Given the description of an element on the screen output the (x, y) to click on. 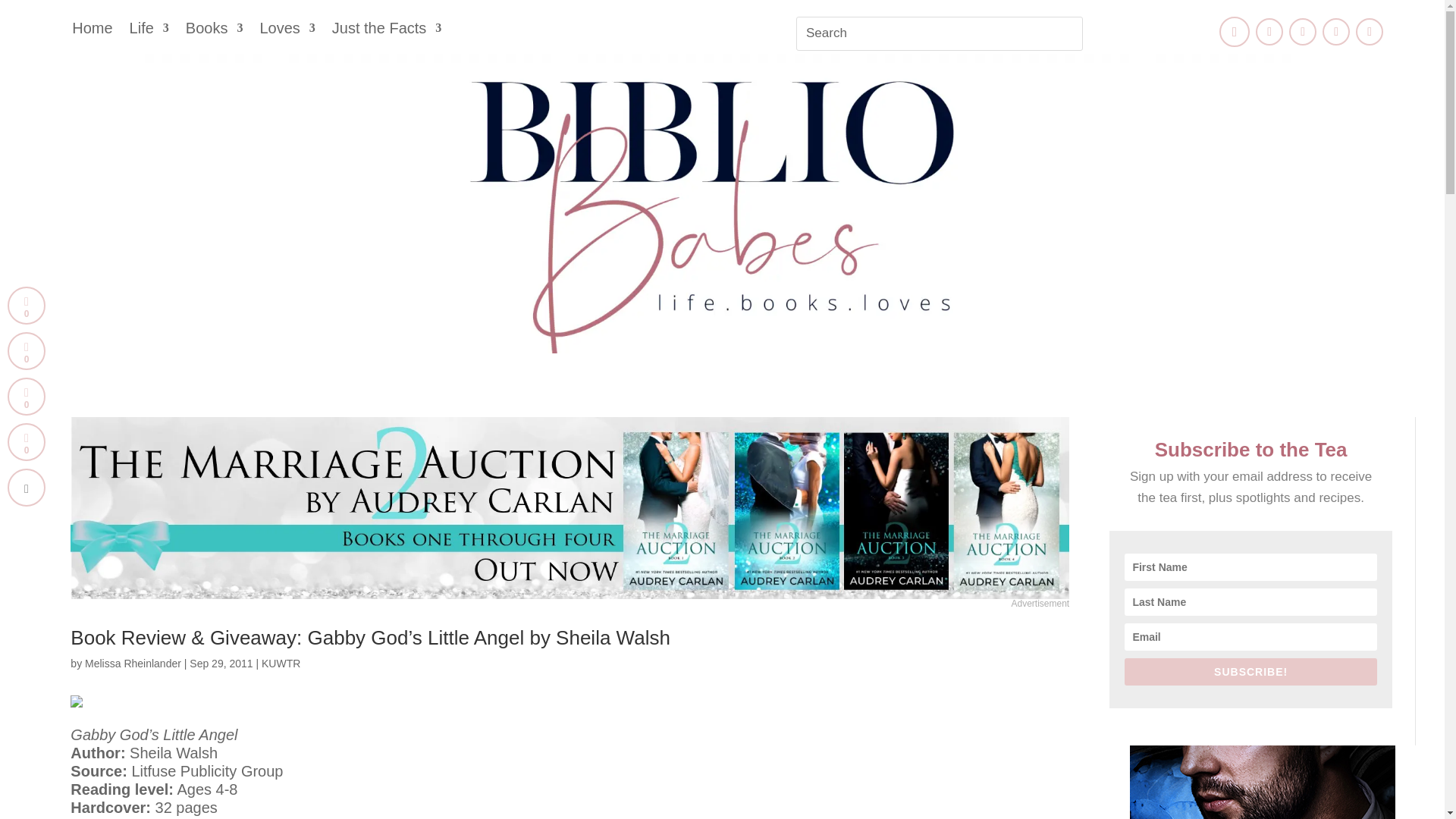
Cruel Games - 350x500 ad (1261, 782)
Loves (286, 30)
Follow on Facebook (1234, 31)
Books (214, 30)
Follow on Pinterest (1335, 31)
Just the Facts (386, 30)
Follow on Youtube (1369, 31)
Home (91, 30)
Follow on Instagram (1302, 31)
Follow on X (1268, 31)
Posts by Melissa Rheinlander (132, 663)
Life (148, 30)
